Given the description of an element on the screen output the (x, y) to click on. 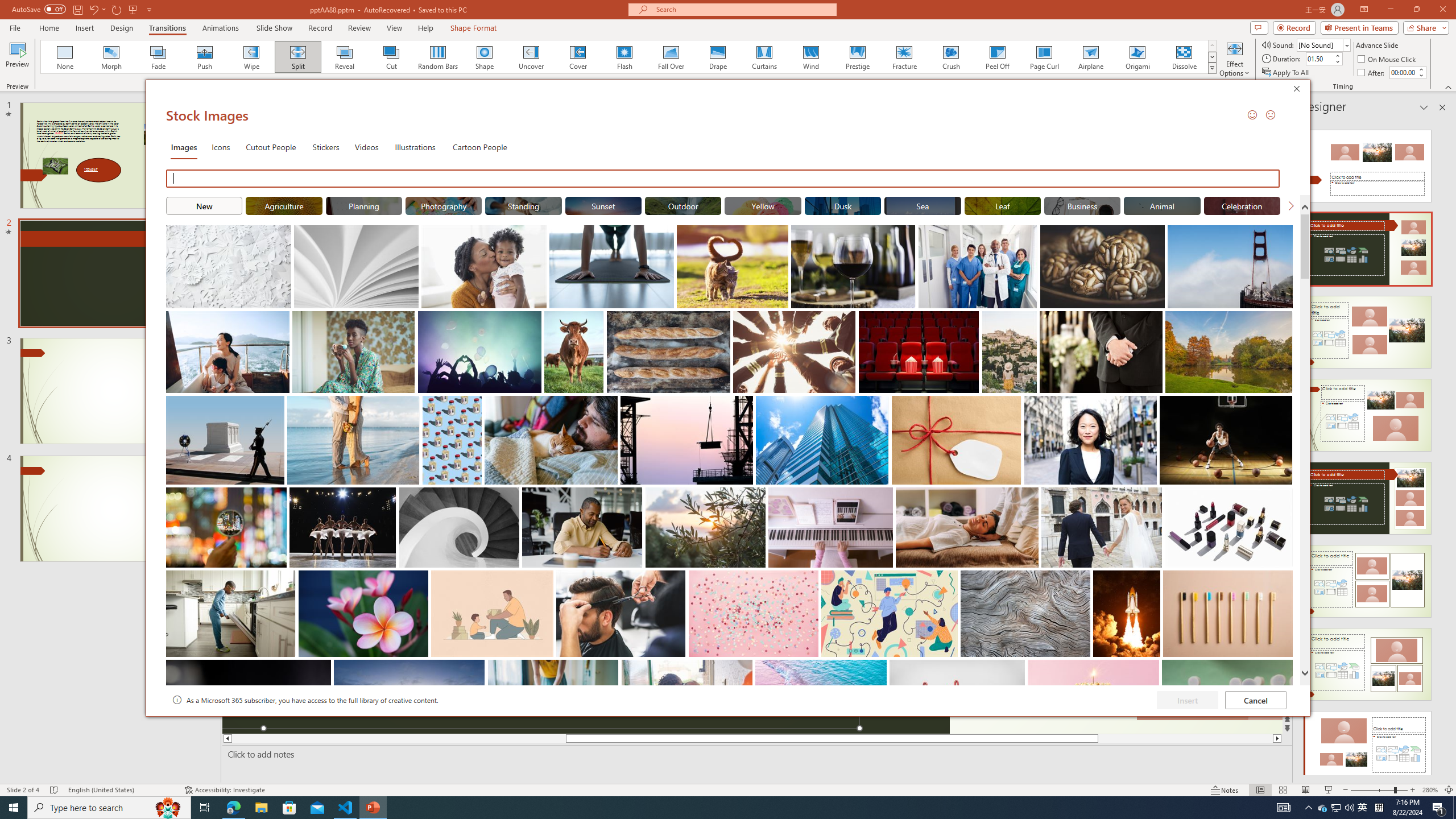
Flash (624, 56)
Drape (717, 56)
Send a Smile (1251, 114)
Task View (204, 807)
Page Curl (1043, 56)
After (1403, 72)
Stickers (326, 146)
Random Bars (437, 56)
Less (1420, 75)
